Given the description of an element on the screen output the (x, y) to click on. 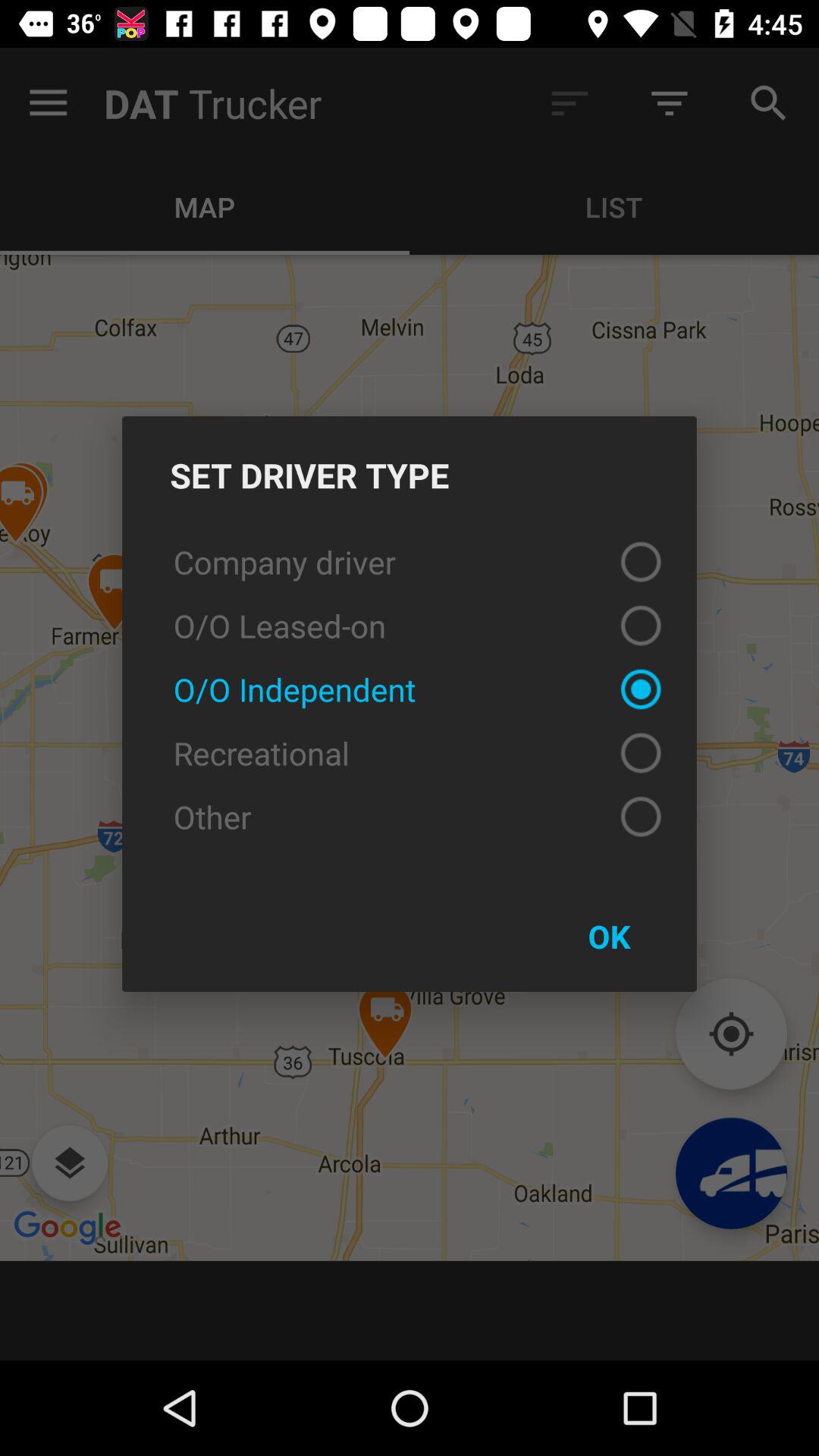
turn off the item above the o o leased icon (409, 561)
